Given the description of an element on the screen output the (x, y) to click on. 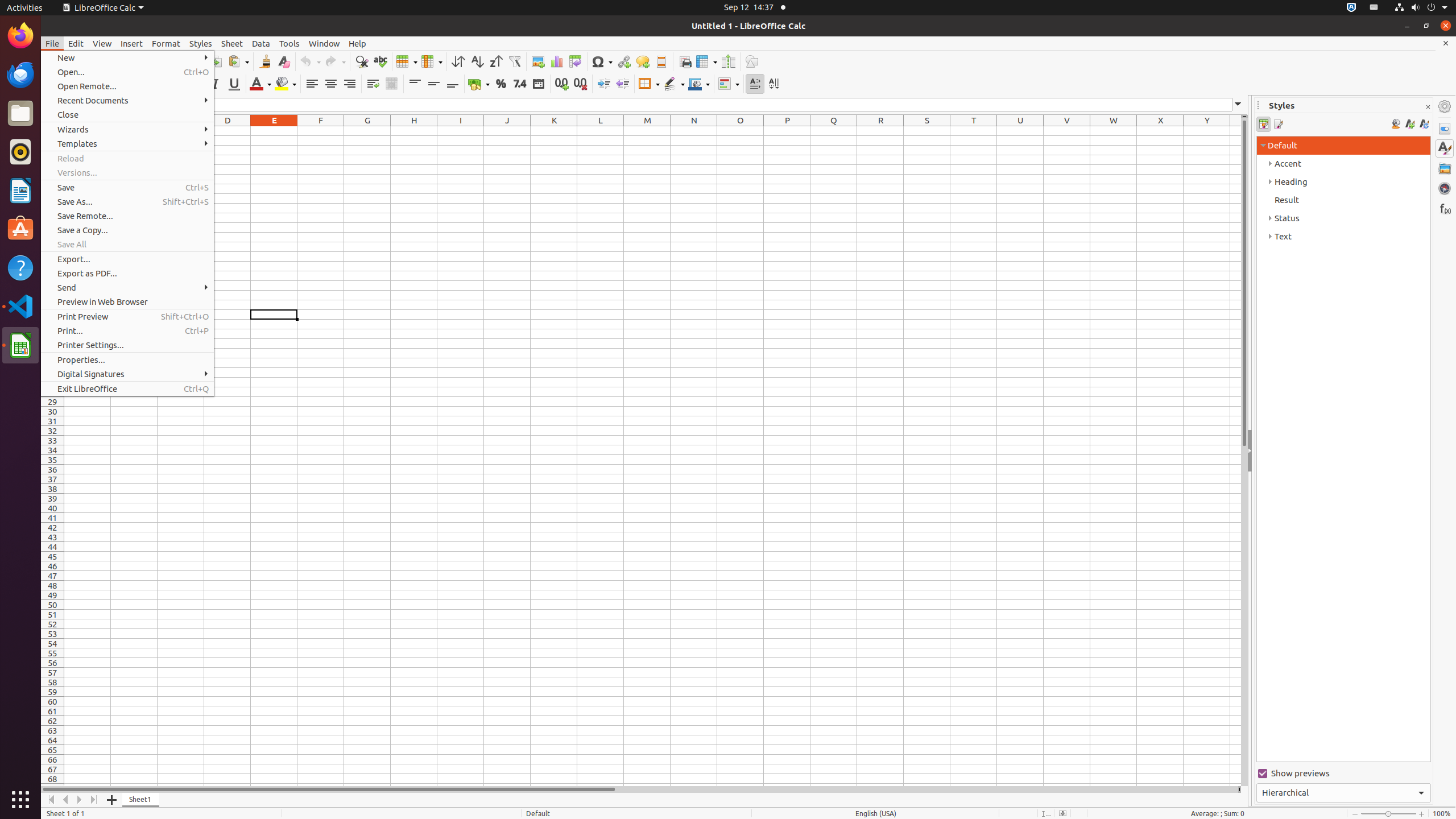
Edit Element type: menu (75, 43)
Close Sidebar Deck Element type: push-button (1427, 106)
New Style from Selection Element type: push-button (1409, 123)
Background Color Element type: push-button (285, 83)
W1 Element type: table-cell (1113, 130)
